Given the description of an element on the screen output the (x, y) to click on. 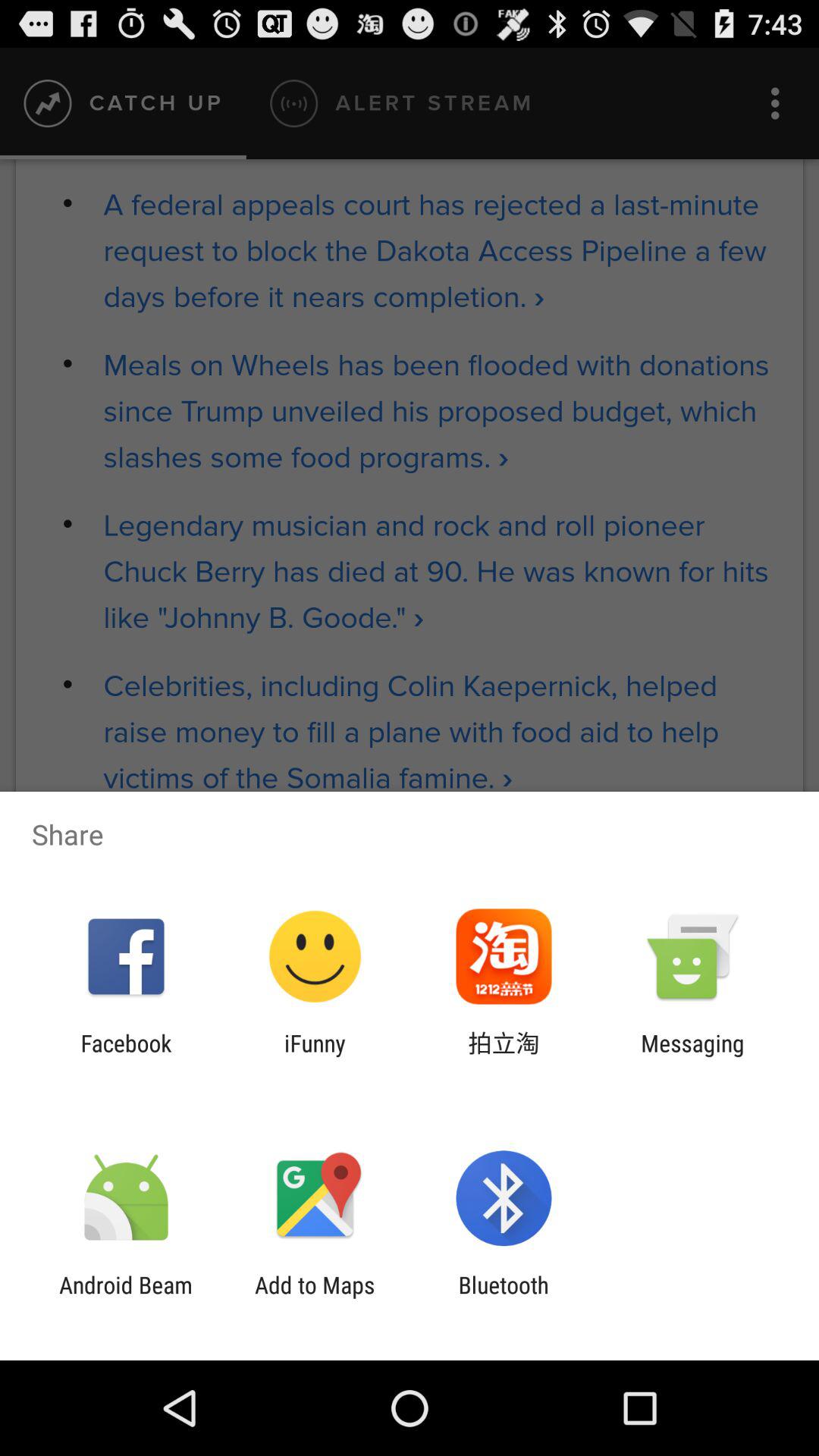
flip to messaging item (692, 1056)
